Given the description of an element on the screen output the (x, y) to click on. 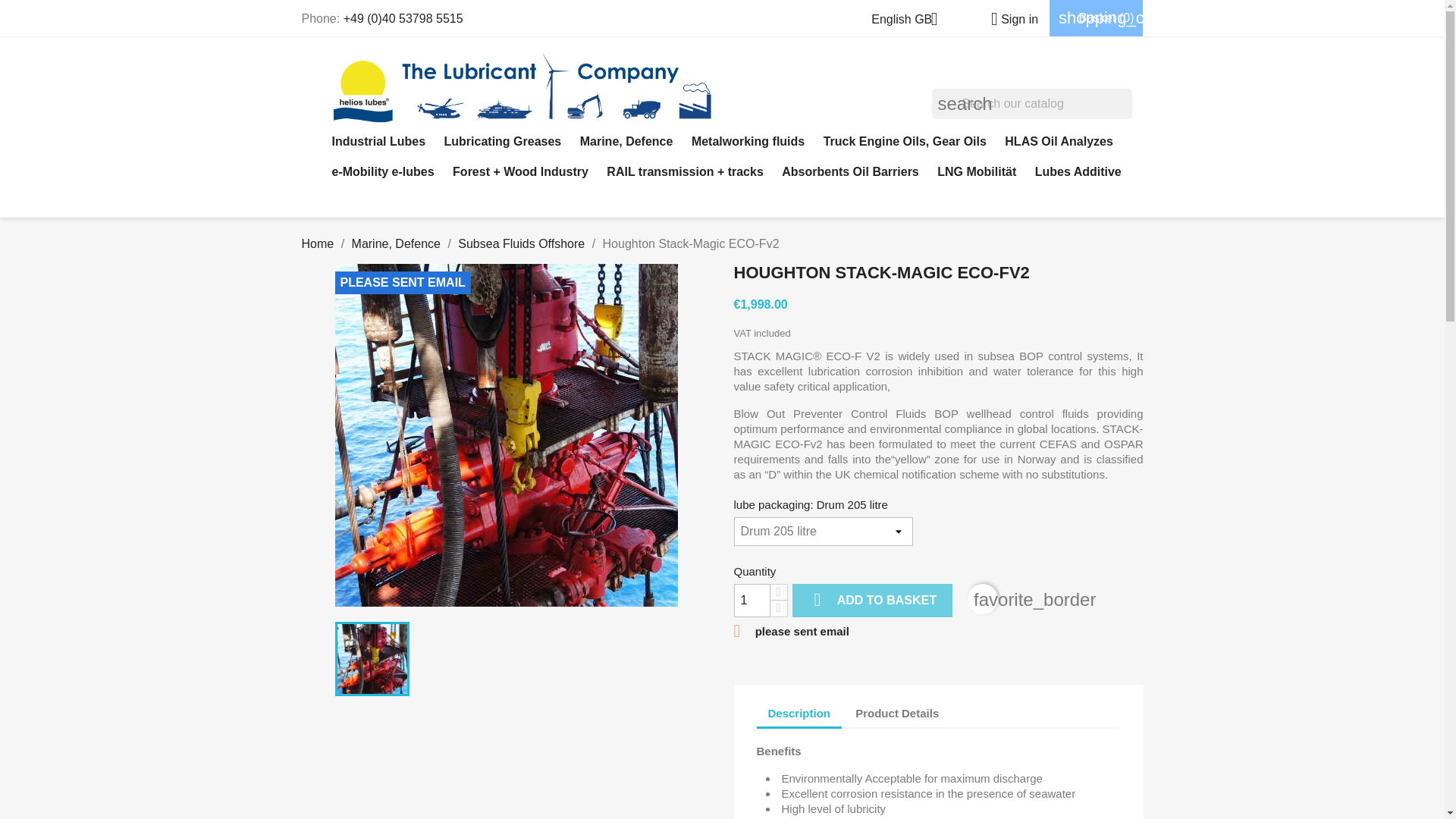
Lubricating Greases (502, 141)
1 (751, 600)
Log in to your customer account (1008, 19)
Marine, Defence (626, 141)
Industrial Lubes (378, 141)
